Given the description of an element on the screen output the (x, y) to click on. 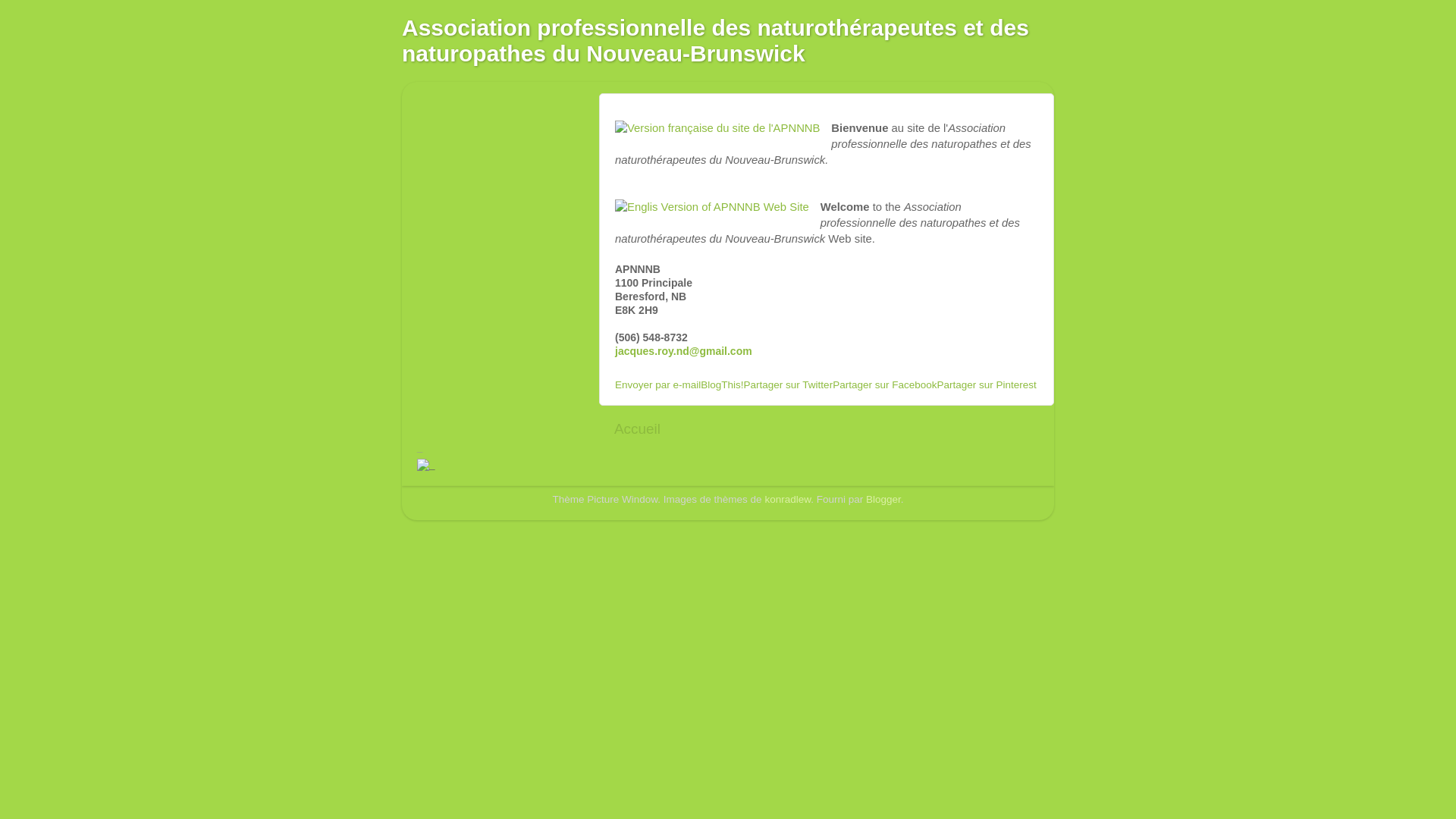
jacques.roy.nd@gmail.com Element type: text (683, 351)
Blogger Element type: text (883, 499)
Accueil Element type: text (637, 428)
Envoyer par e-mail Element type: text (657, 384)
BlogThis! Element type: text (721, 384)
konradlew Element type: text (787, 499)
Partager sur Pinterest Element type: text (985, 384)
Partager sur Twitter Element type: text (788, 384)
Partager sur Facebook Element type: text (884, 384)
